Given the description of an element on the screen output the (x, y) to click on. 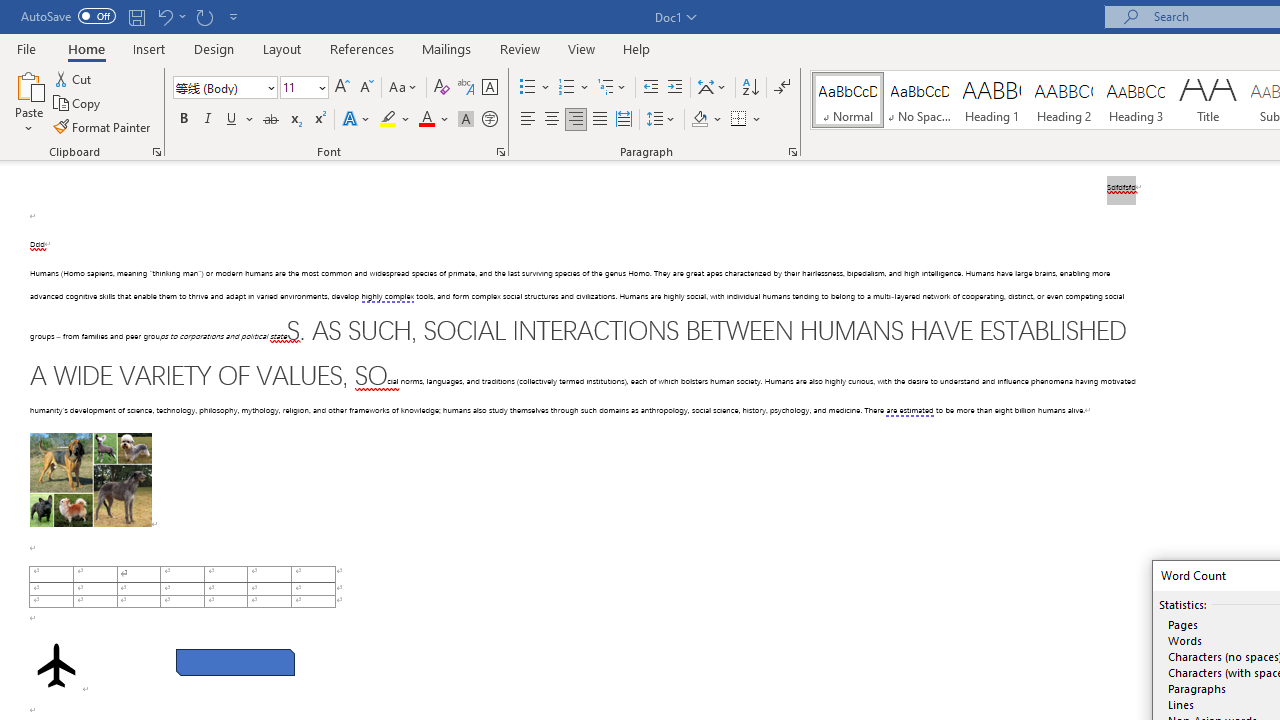
Undo Paragraph Alignment (164, 15)
